Given the description of an element on the screen output the (x, y) to click on. 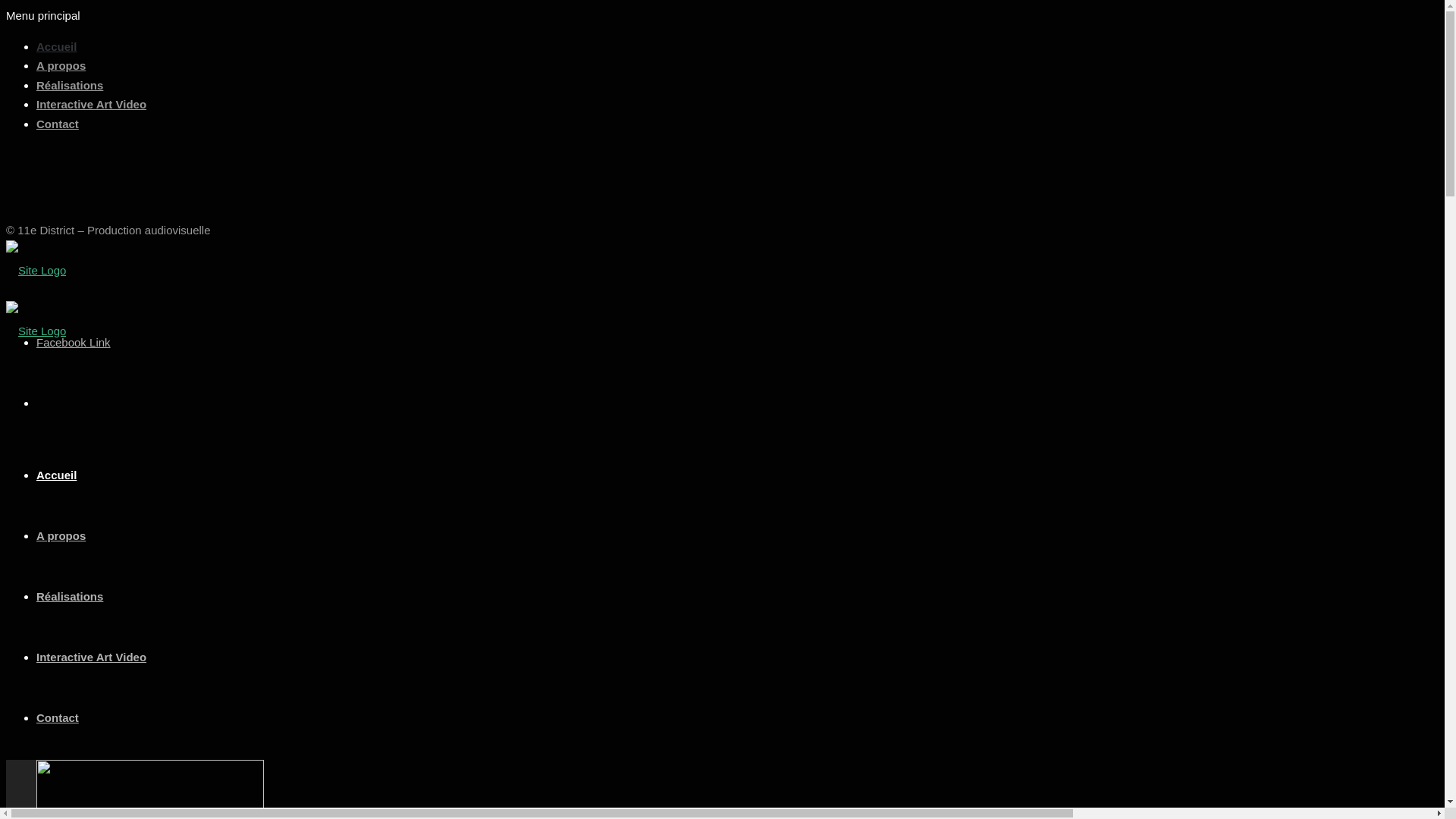
Contact Element type: text (57, 122)
Facebook Link Element type: text (73, 341)
Accueil Element type: text (56, 45)
Interactive Art Video Element type: text (91, 103)
Accueil Element type: text (56, 474)
Contact Element type: text (57, 717)
Interactive Art Video Element type: text (91, 656)
A propos Element type: text (60, 535)
A propos Element type: text (60, 65)
